Given the description of an element on the screen output the (x, y) to click on. 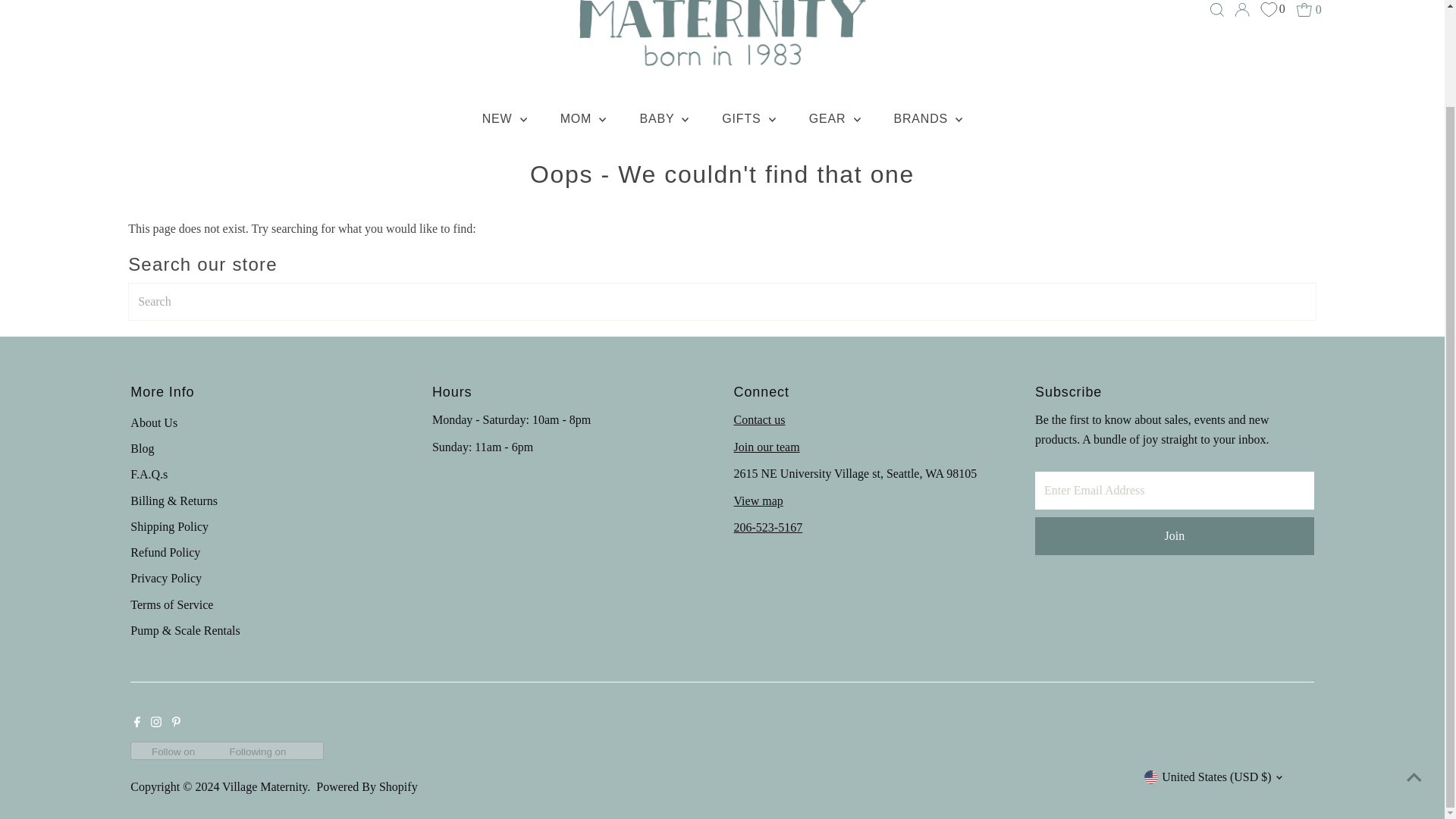
0 (1272, 9)
Village Maternity View Map in Google Maps (758, 500)
0 (1309, 9)
Contact (759, 419)
Join Our Team! (766, 446)
